Given the description of an element on the screen output the (x, y) to click on. 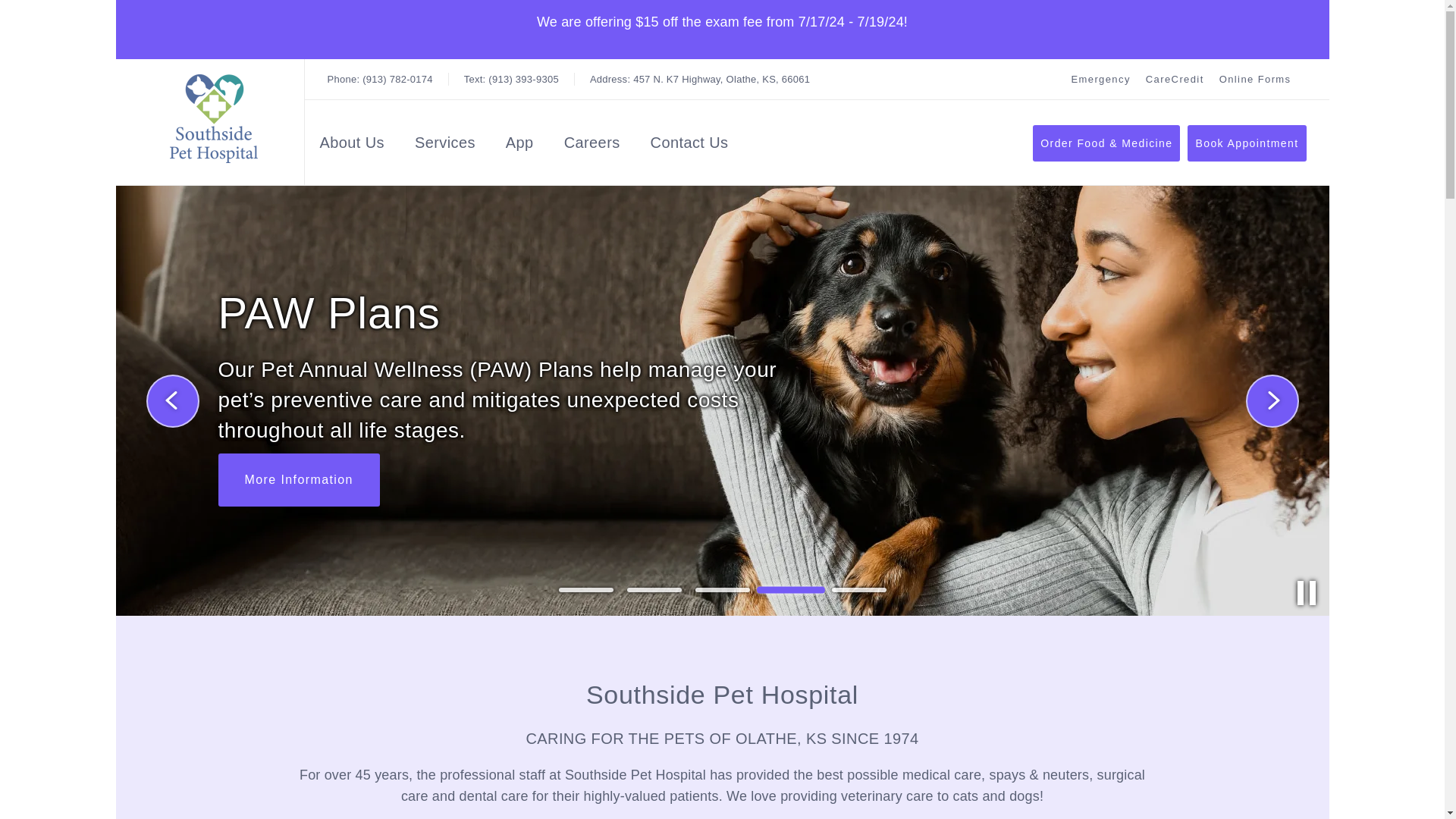
Services (445, 145)
App (519, 145)
About Us (352, 145)
Book Appointment (1247, 142)
Logo (213, 118)
CareCredit (1174, 78)
Address: 457 N. K7 Highway, Olathe, KS, 66061 (699, 78)
CareCredit (699, 78)
About Us (1174, 78)
Online Forms (352, 145)
More Information (1255, 78)
Online Forms (299, 479)
Careers (1255, 78)
Emergency (592, 145)
